Given the description of an element on the screen output the (x, y) to click on. 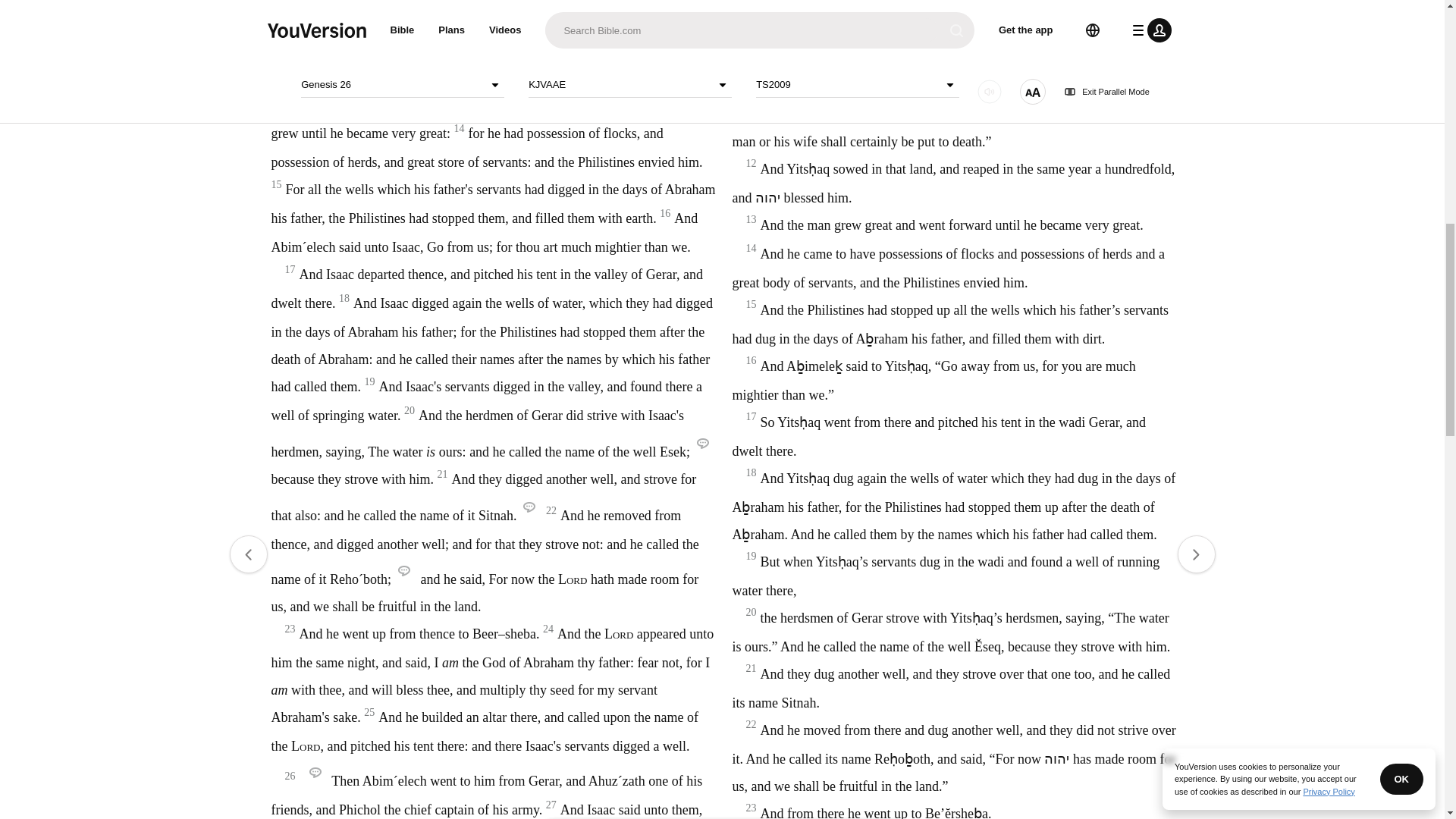
Genesis 26: KJVAAE (633, 47)
: (599, 47)
Sign up or sign in (774, 245)
